Given the description of an element on the screen output the (x, y) to click on. 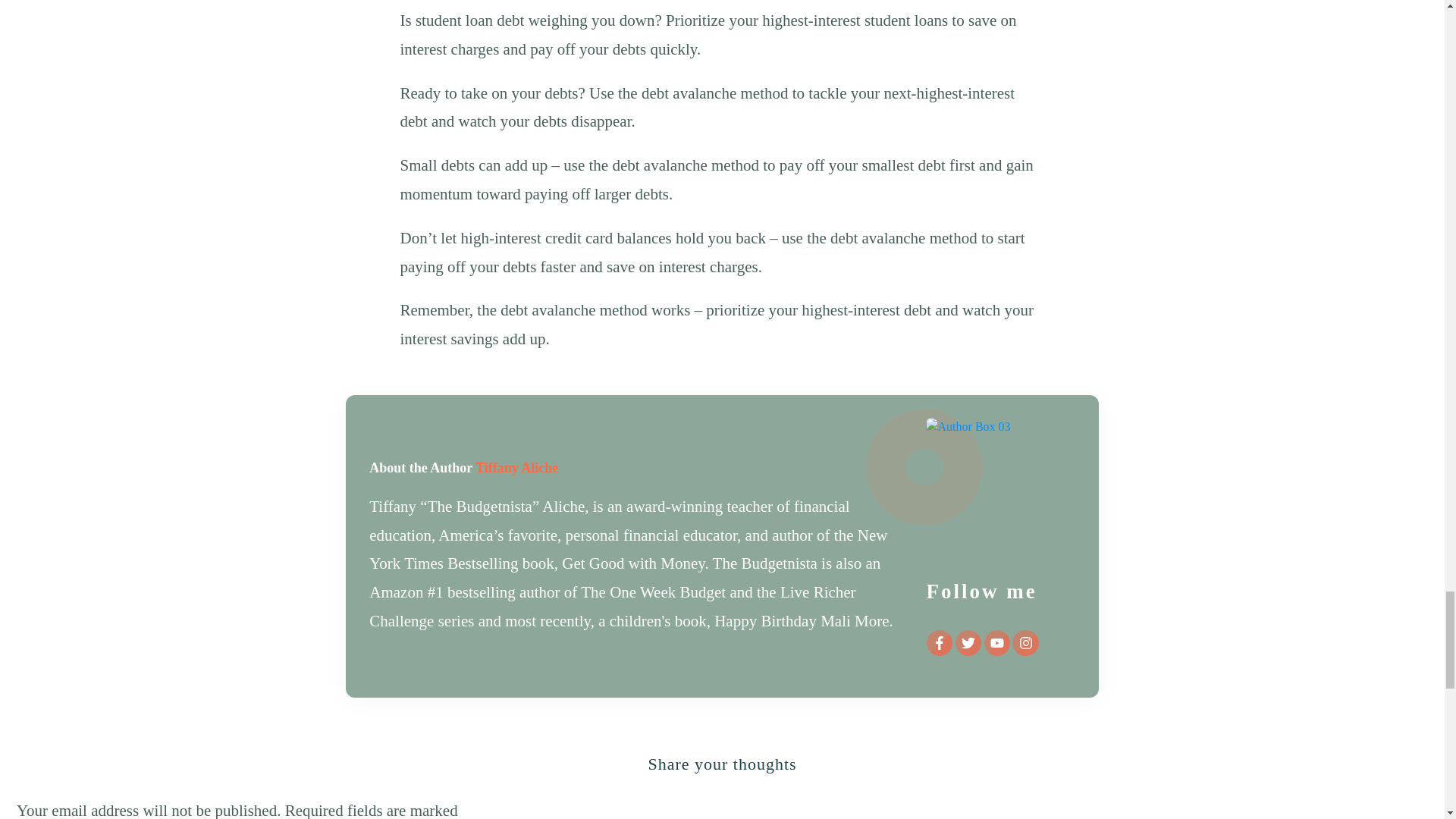
Tiffany Aliche (516, 467)
Tiffany Aliche (516, 467)
Author Box 03 (999, 491)
